Given the description of an element on the screen output the (x, y) to click on. 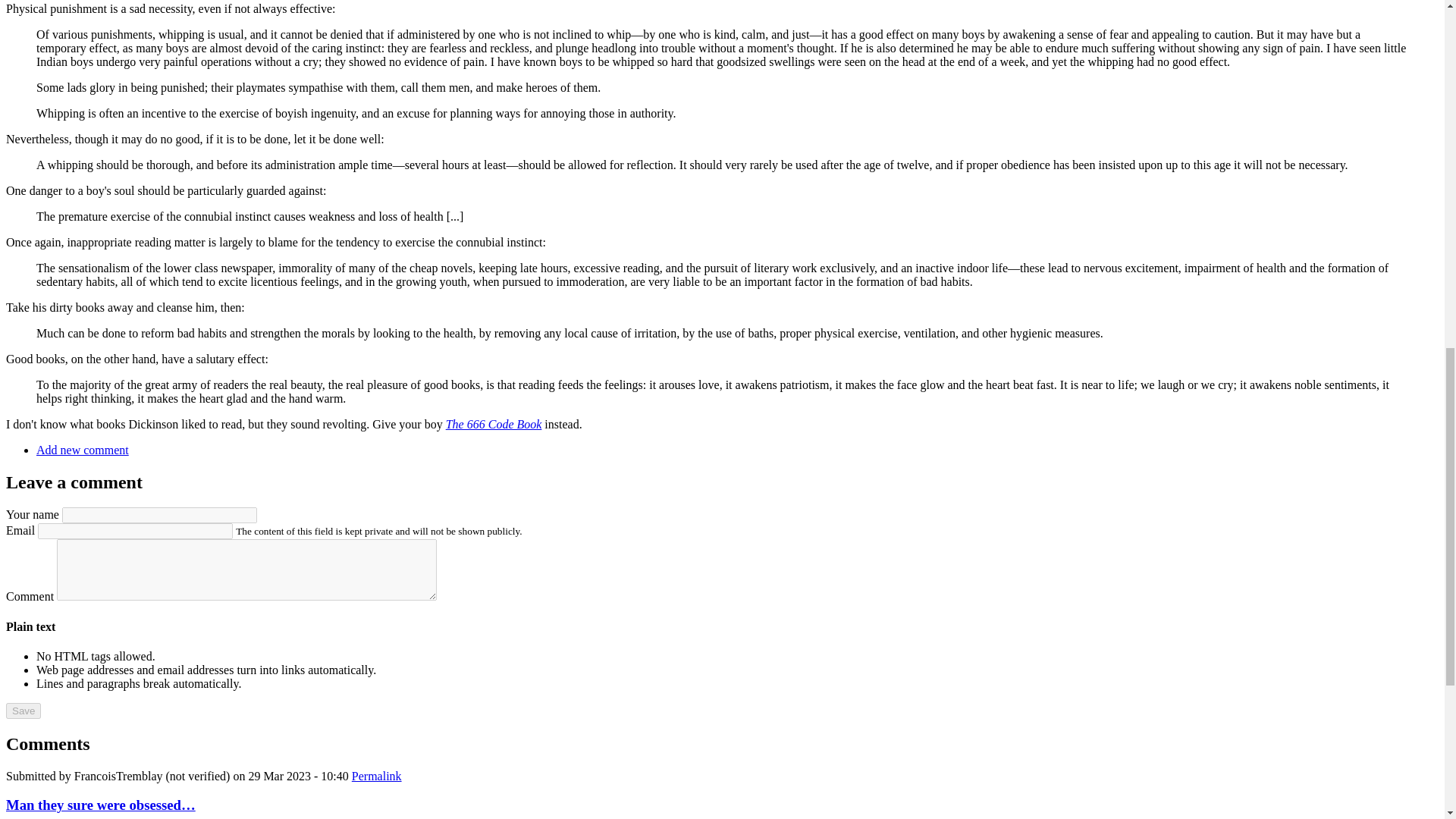
Permalink (376, 775)
Share your thoughts and opinions. (82, 449)
Save (22, 710)
Save (22, 710)
The 666 Code Book (493, 423)
Add new comment (82, 449)
